Given the description of an element on the screen output the (x, y) to click on. 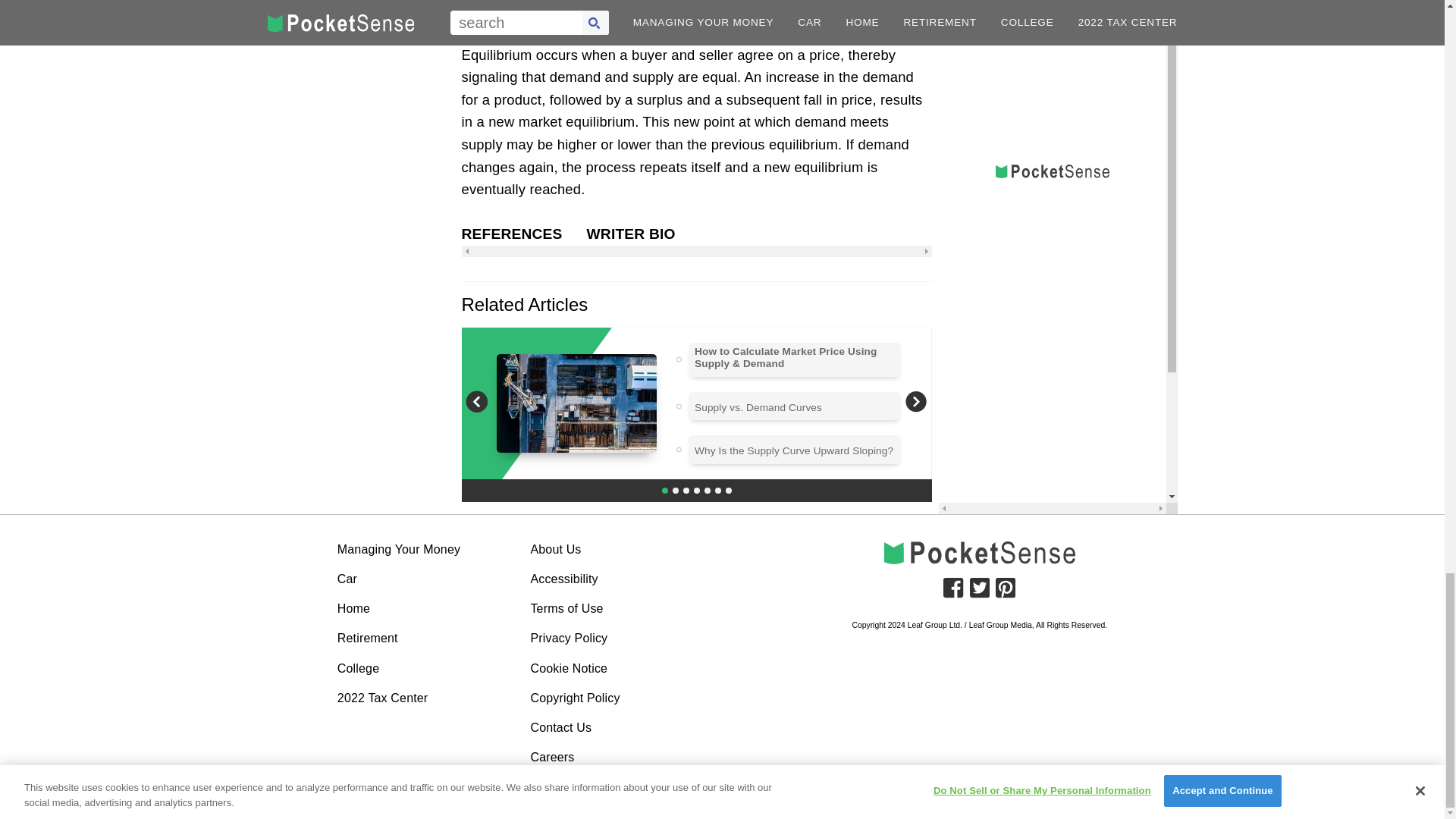
Supply vs. Demand Curves (758, 408)
Why Is the Supply Curve Upward Sloping? (793, 451)
